Given the description of an element on the screen output the (x, y) to click on. 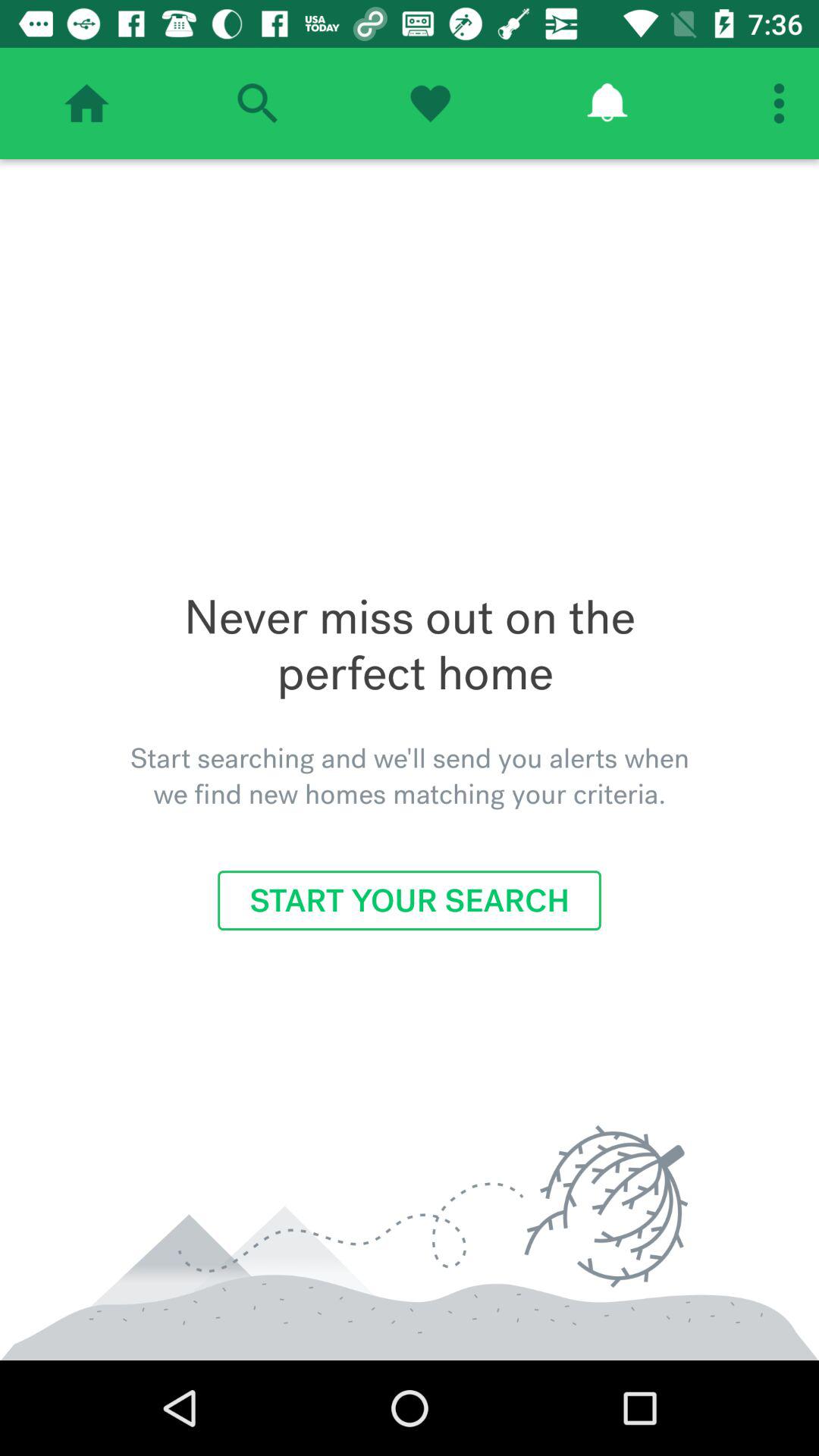
home page (86, 103)
